Given the description of an element on the screen output the (x, y) to click on. 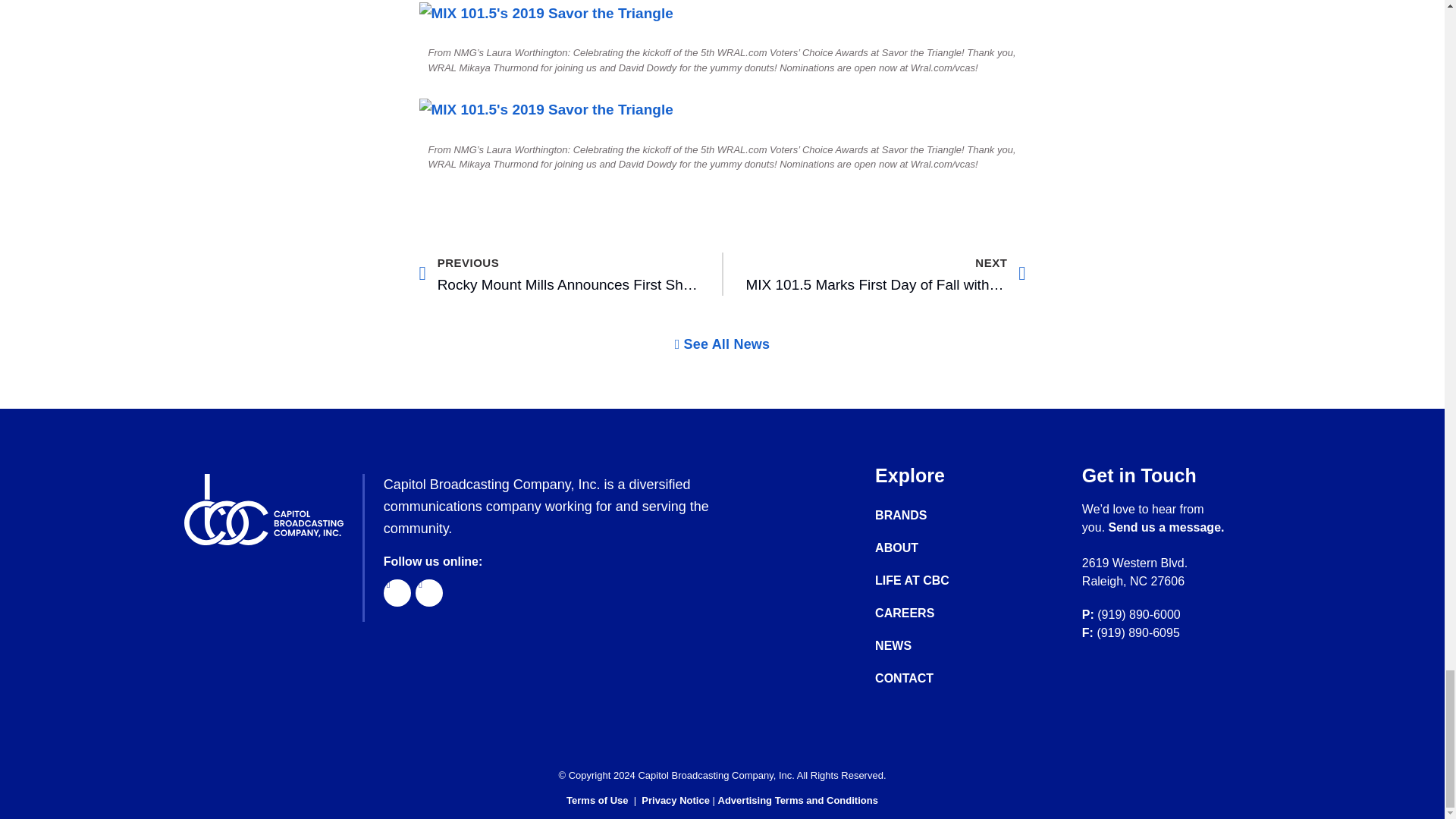
See All News (885, 274)
